Given the description of an element on the screen output the (x, y) to click on. 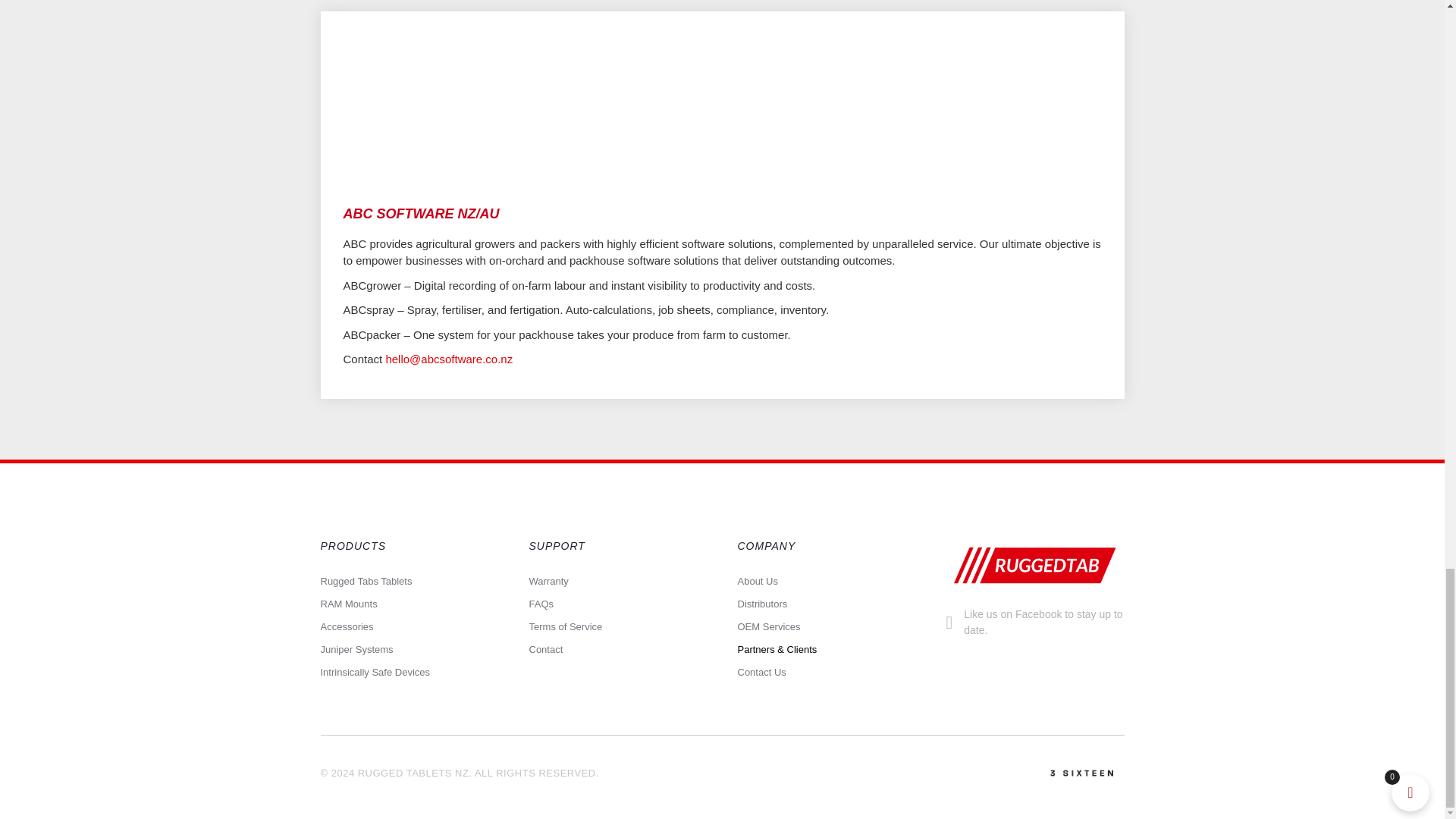
Rugged Tabs Tablets (408, 587)
